Given the description of an element on the screen output the (x, y) to click on. 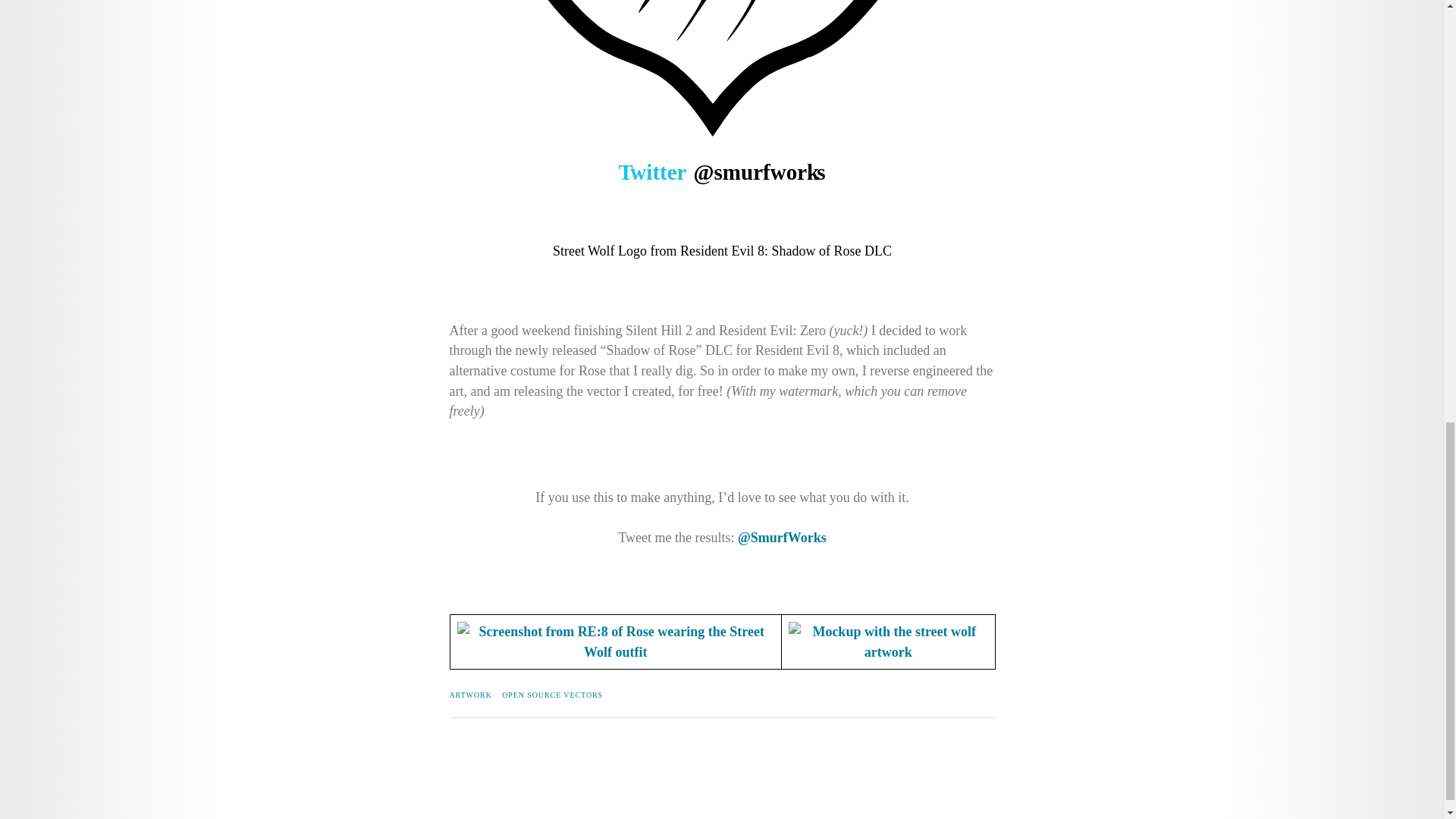
ARTWORK (470, 695)
OPEN SOURCE VECTORS (552, 695)
